Given the description of an element on the screen output the (x, y) to click on. 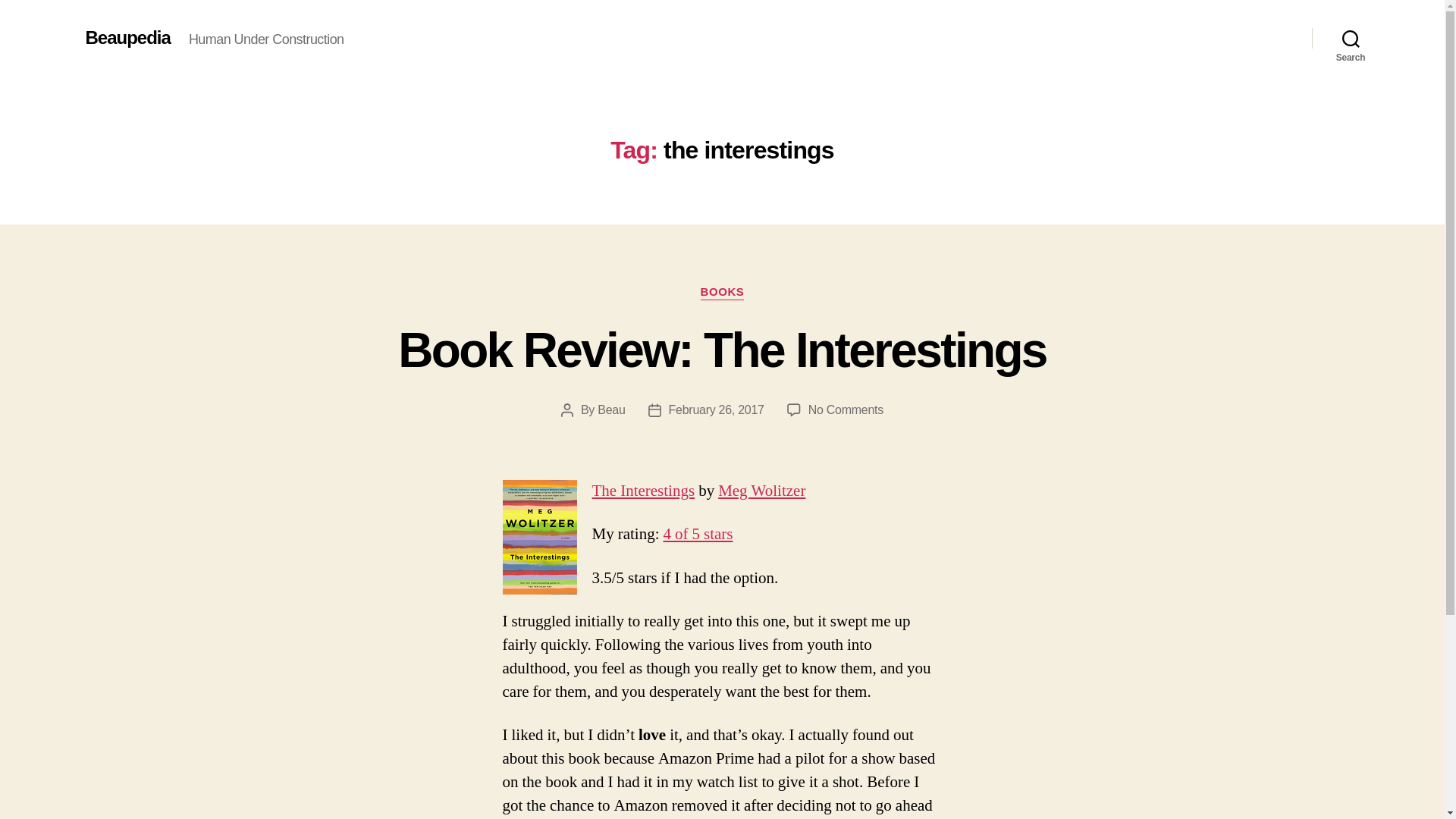
4 of 5 stars (697, 534)
Meg Wolitzer (761, 490)
February 26, 2017 (716, 409)
The Interestings (642, 490)
Search (1350, 37)
Beaupedia (127, 37)
BOOKS (722, 292)
Beau (845, 409)
Book Review: The Interestings (610, 409)
